Given the description of an element on the screen output the (x, y) to click on. 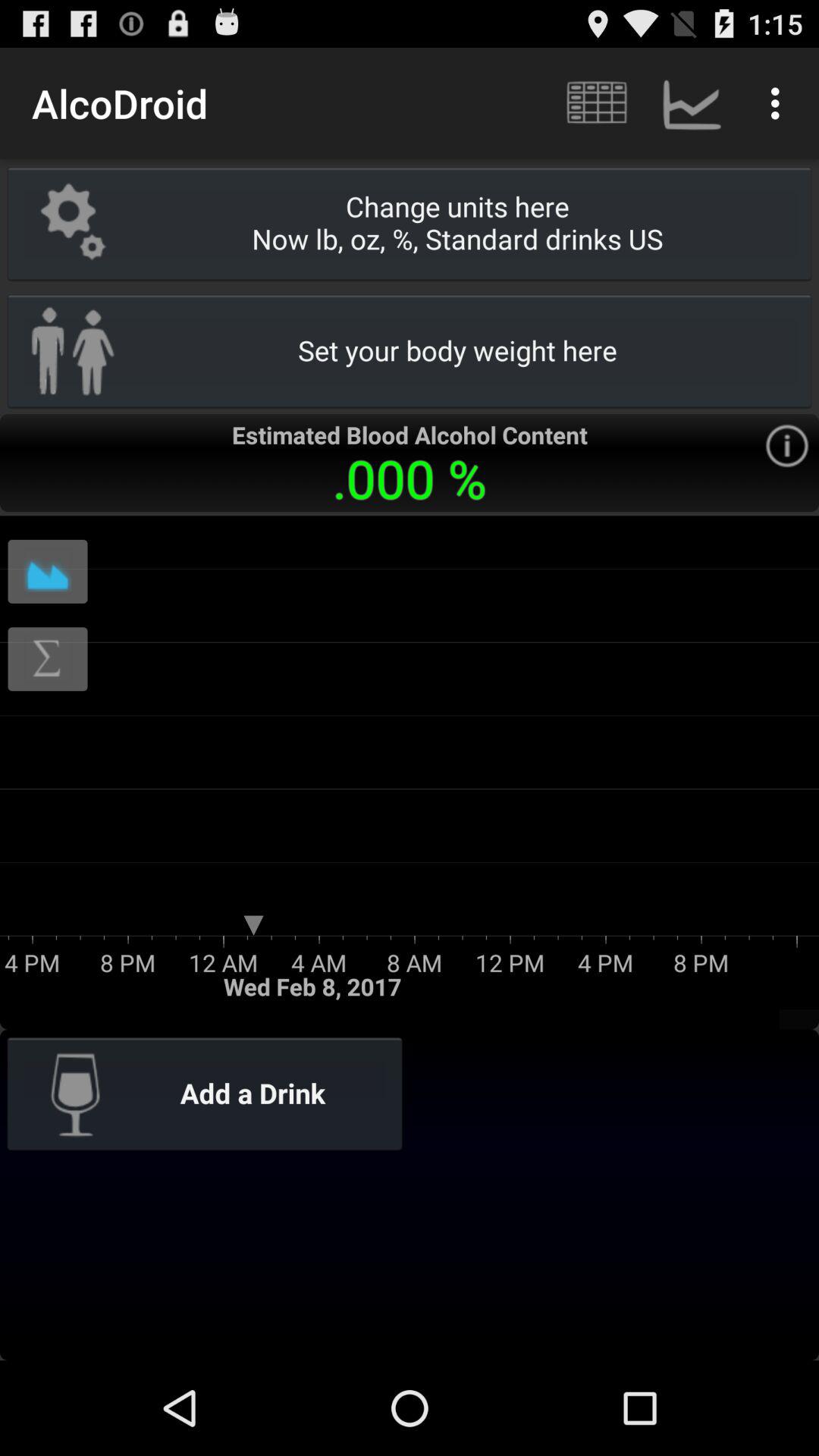
show chart (47, 571)
